Given the description of an element on the screen output the (x, y) to click on. 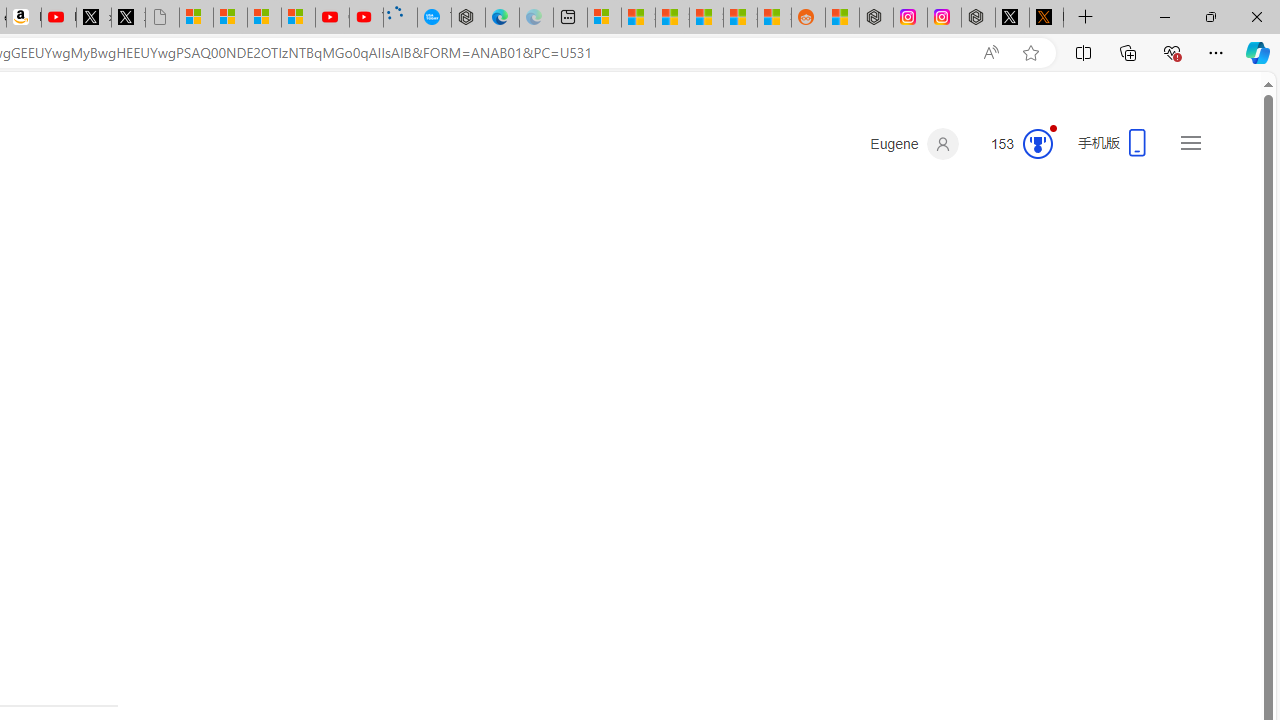
New Tab (1085, 17)
The most popular Google 'how to' searches (434, 17)
Nordace - Nordace has arrived Hong Kong (468, 17)
X (127, 17)
Shanghai, China weather forecast | Microsoft Weather (638, 17)
Split screen (1083, 52)
Microsoft account | Microsoft Account Privacy Settings (603, 17)
Settings and more (Alt+F) (1215, 52)
Class: medal-svg-animation (1037, 143)
